Given the description of an element on the screen output the (x, y) to click on. 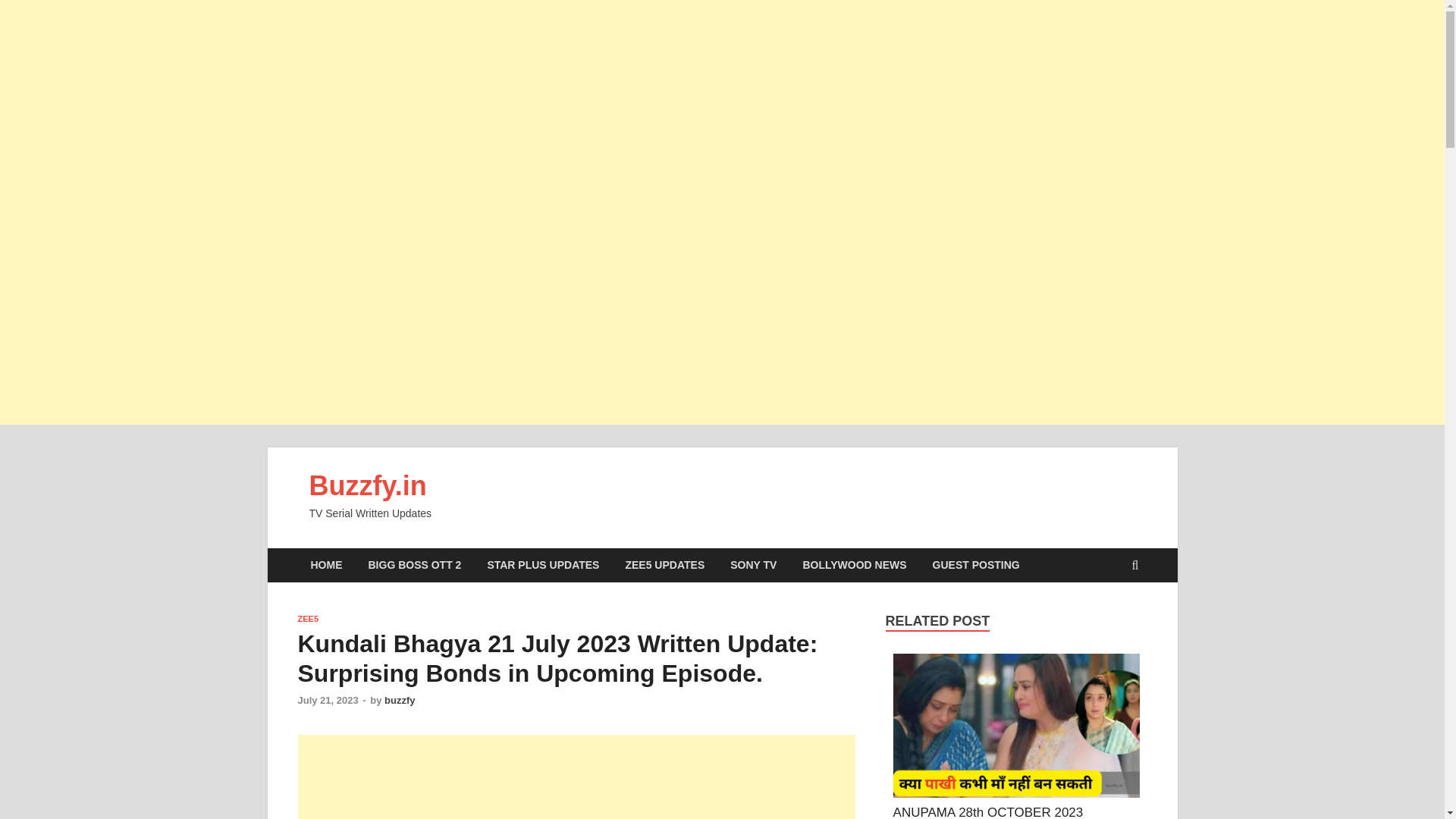
ZEE5 UPDATES (664, 564)
SONY TV (753, 564)
BOLLYWOOD NEWS (853, 564)
HOME (326, 564)
GUEST POSTING (976, 564)
Advertisement (575, 776)
Buzzfy.in (367, 485)
BIGG BOSS OTT 2 (414, 564)
ZEE5 (307, 618)
STAR PLUS UPDATES (542, 564)
July 21, 2023 (327, 699)
buzzfy (399, 699)
